Given the description of an element on the screen output the (x, y) to click on. 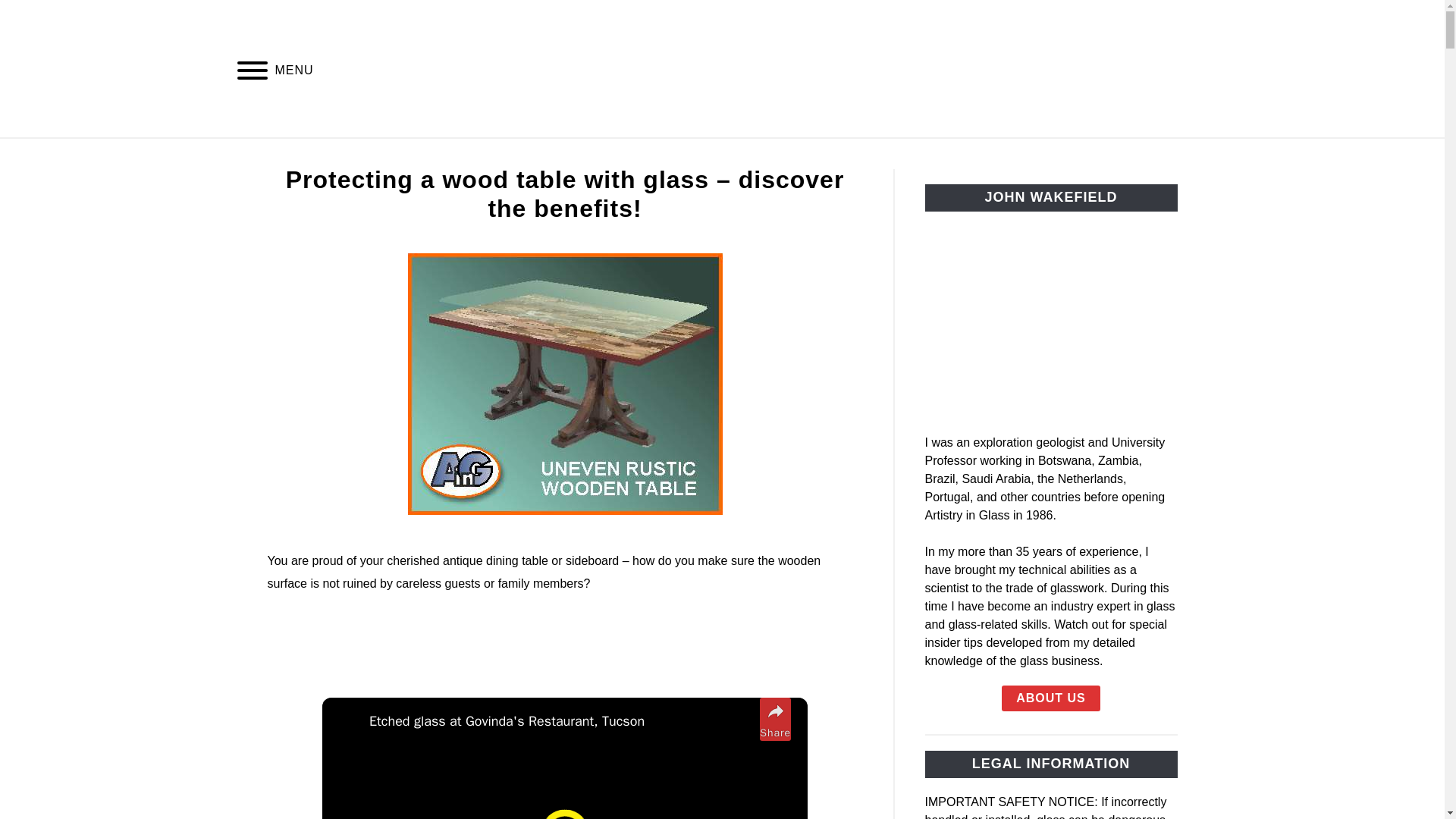
MENU (251, 72)
Search (1203, 68)
HOME (310, 155)
SWAROVSKI CRYSTAL FIGURINES (694, 155)
